Given the description of an element on the screen output the (x, y) to click on. 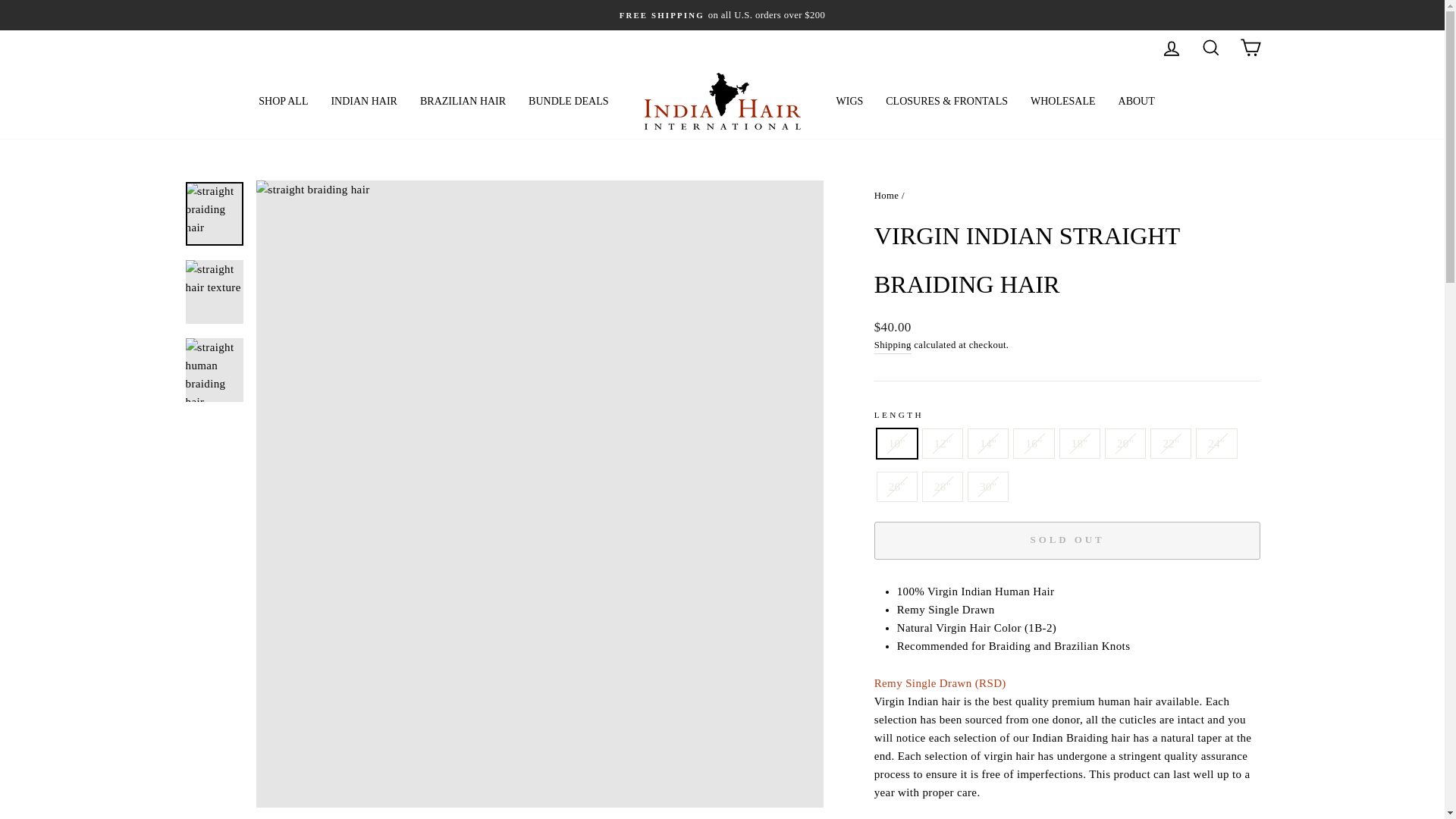
Back to the frontpage (887, 195)
